Given the description of an element on the screen output the (x, y) to click on. 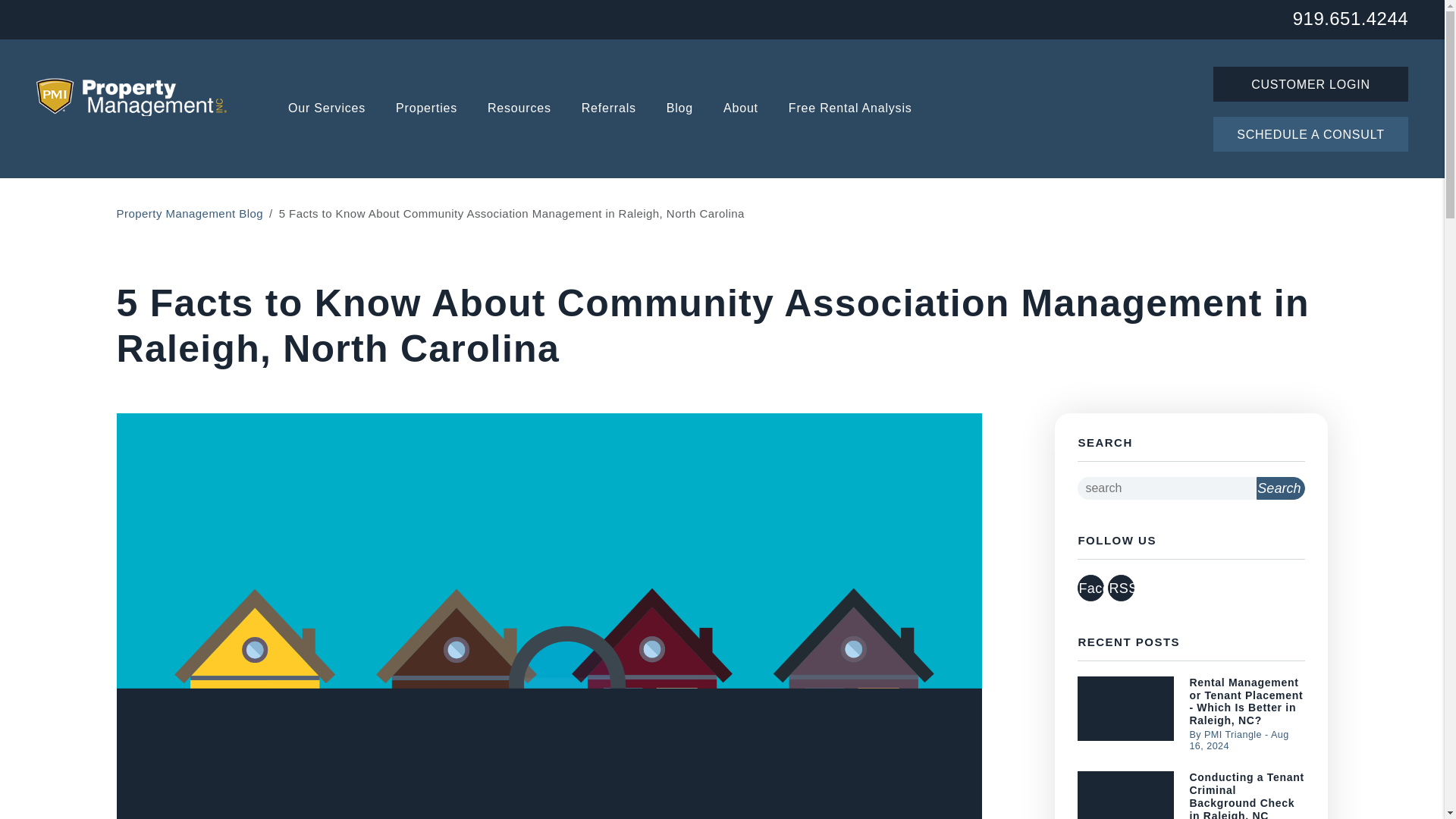
Free Rental Analysis (850, 108)
Blog (679, 108)
About (740, 108)
opens in a new window (1090, 587)
Referrals (608, 108)
Resources (519, 108)
SCHEDULE A CONSULT (1309, 134)
At least 3 characters (1166, 487)
CUSTOMER LOGIN (1309, 83)
919.651.4244 (1349, 17)
